Given the description of an element on the screen output the (x, y) to click on. 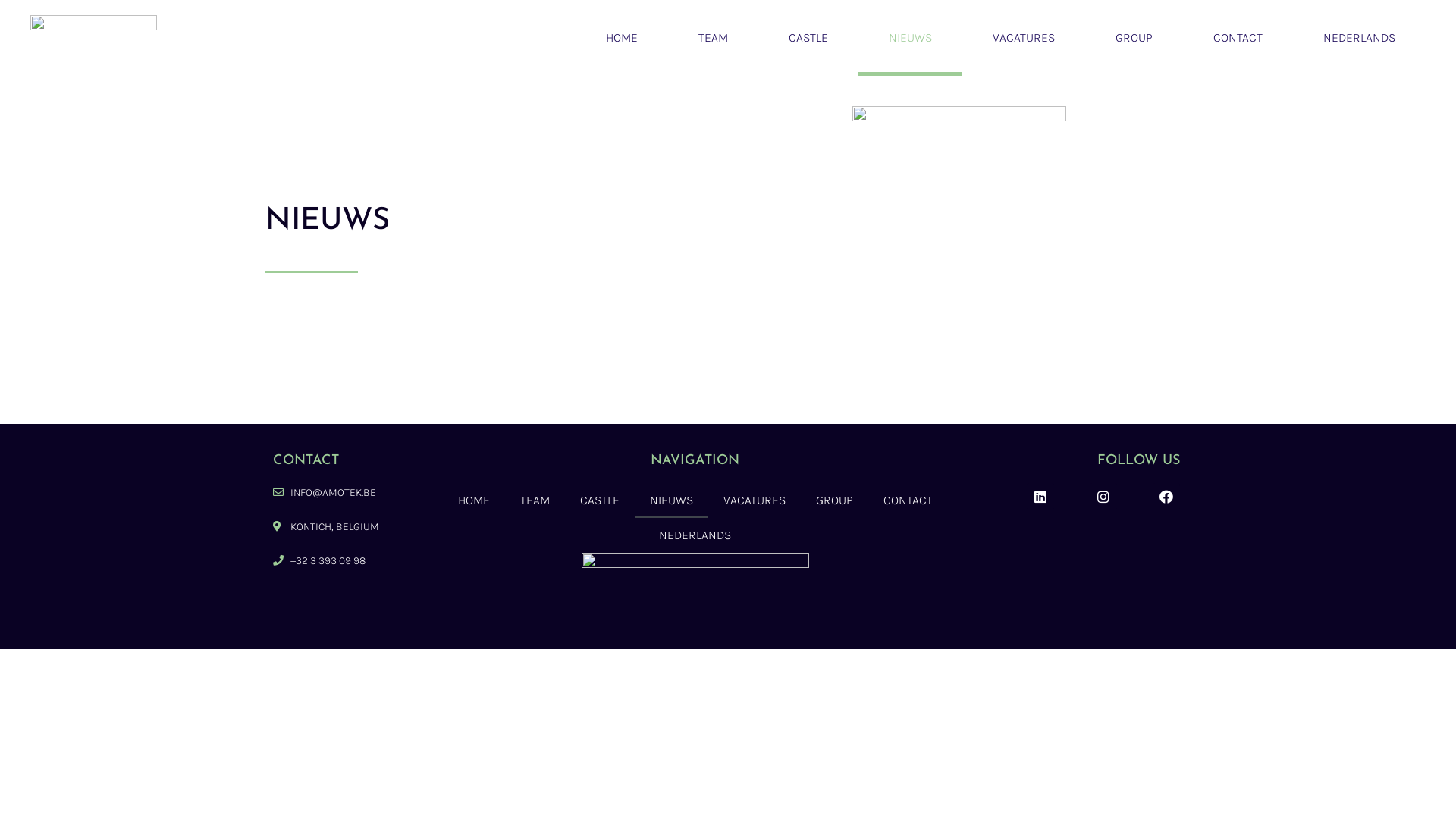
TEAM Element type: text (713, 37)
CASTLE Element type: text (599, 500)
TEAM Element type: text (534, 500)
NIEUWS Element type: text (910, 37)
CONTACT Element type: text (1237, 37)
CASTLE Element type: text (808, 37)
GROUP Element type: text (1134, 37)
INFO@AMOTEK.BE Element type: text (344, 492)
NEDERLANDS Element type: text (1358, 37)
HOME Element type: text (621, 37)
VACATURES Element type: text (1023, 37)
NIEUWS Element type: text (671, 500)
NEDERLANDS Element type: text (694, 534)
GROUP Element type: text (834, 500)
+32 3 393 09 98 Element type: text (344, 560)
VACATURES Element type: text (754, 500)
CONTACT Element type: text (907, 500)
HOME Element type: text (473, 500)
